Given the description of an element on the screen output the (x, y) to click on. 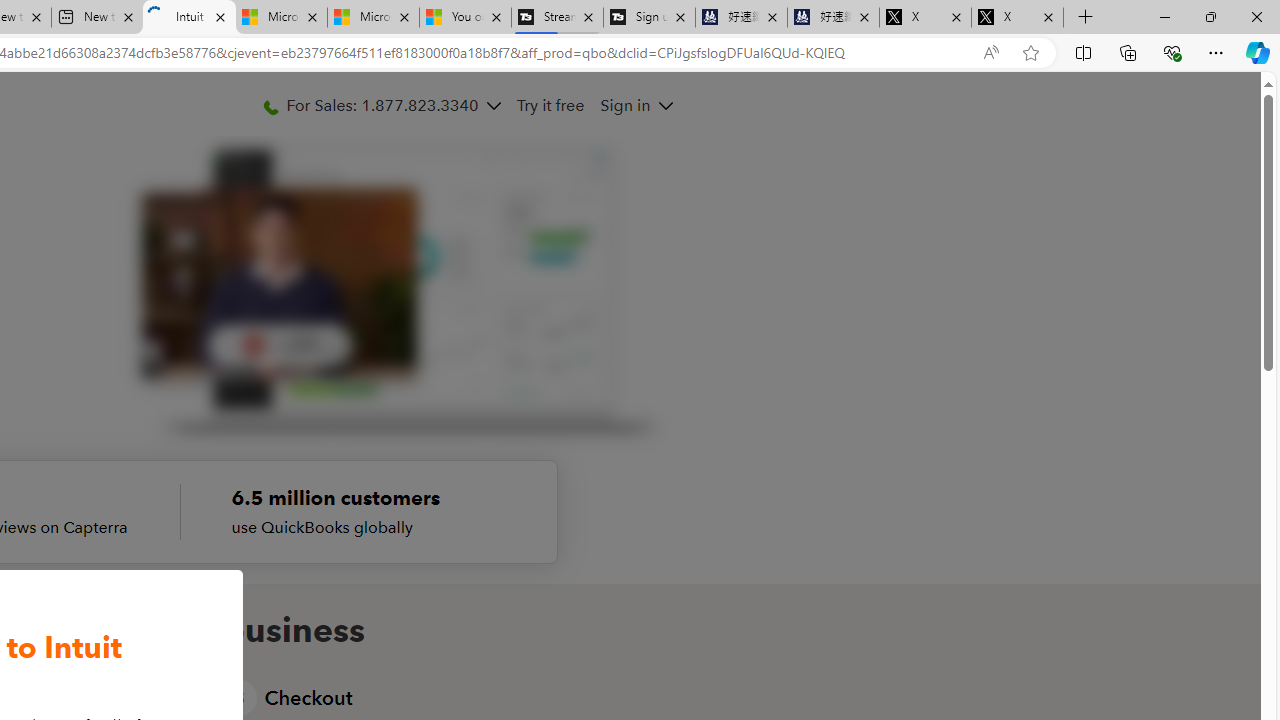
Sign in (636, 105)
Try it free (552, 105)
Class: MenuItem_dDown__f585abf6 MenuItem_white__f585abf6 (664, 106)
Sign in (625, 105)
